Given the description of an element on the screen output the (x, y) to click on. 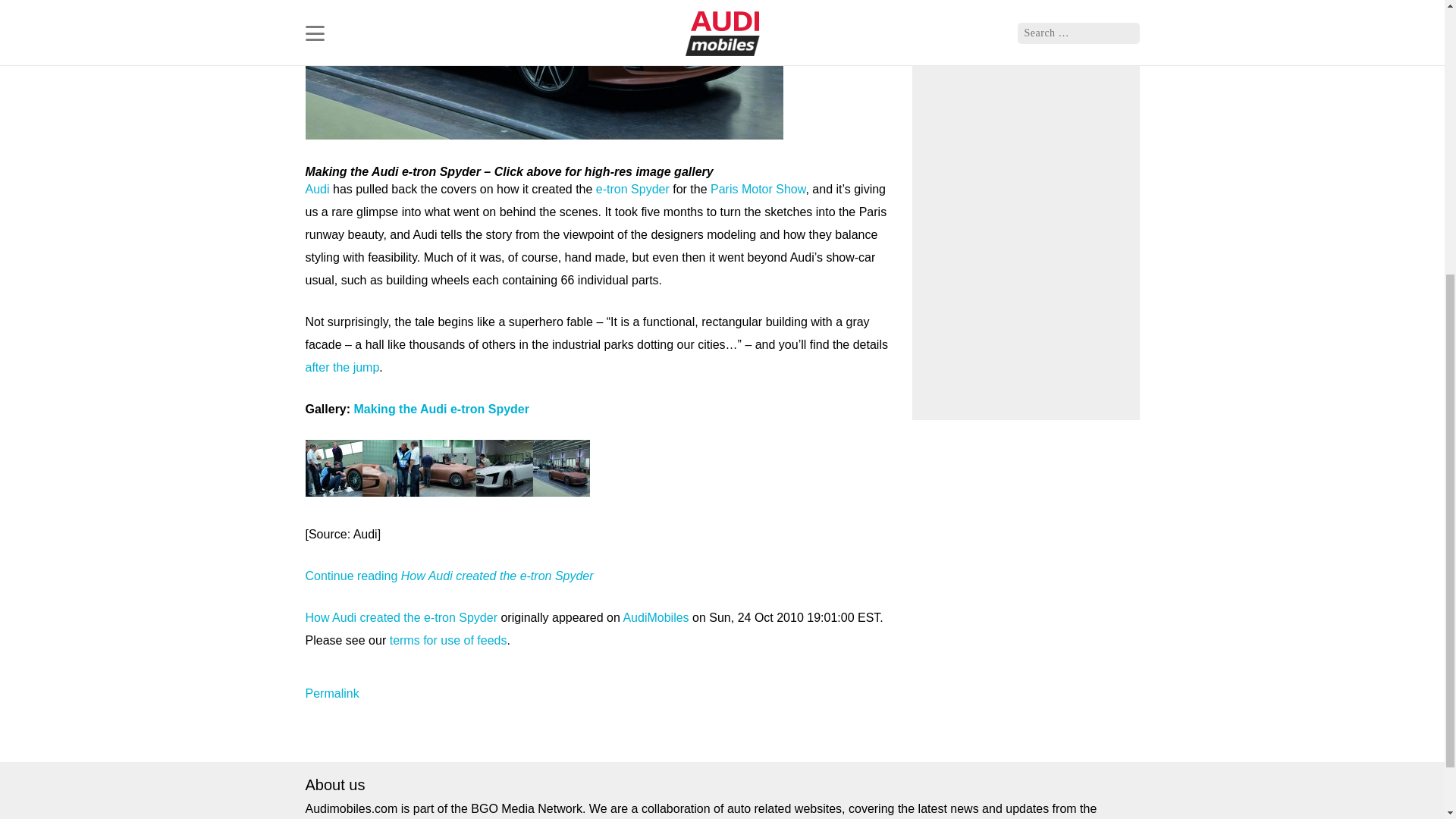
terms for use of feeds (448, 640)
Making the Audi e-tron Spyder (441, 408)
Permanent link to this entry (331, 693)
Audi (316, 188)
AudiMobiles (655, 617)
How Audi created the e-tron Spyder (400, 617)
after the jump (341, 367)
Paris Motor Show (757, 188)
Continue reading How Audi created the e-tron Spyder (448, 575)
Permalink (331, 693)
